Given the description of an element on the screen output the (x, y) to click on. 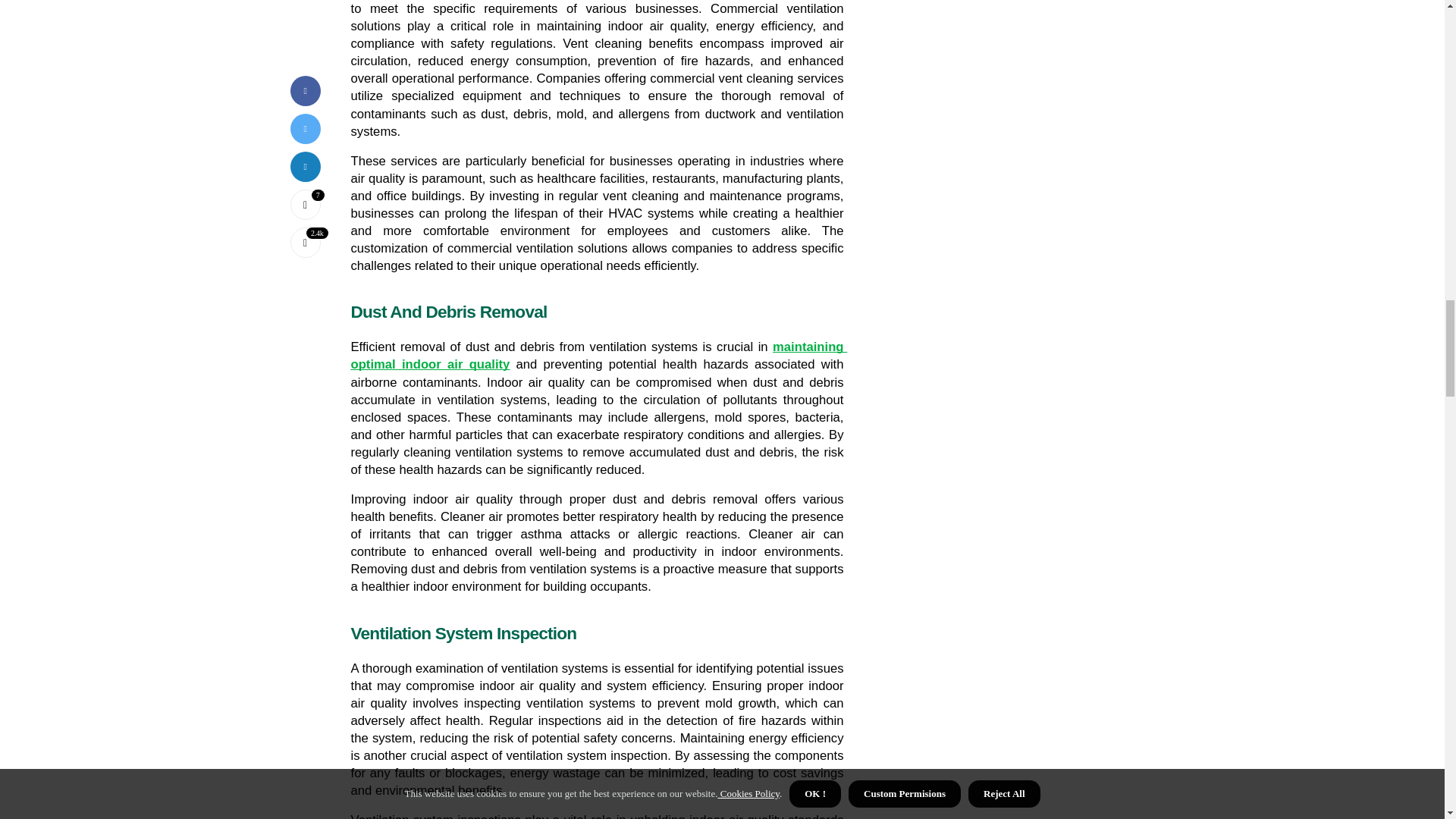
maintaining optimal indoor air quality (598, 355)
